Given the description of an element on the screen output the (x, y) to click on. 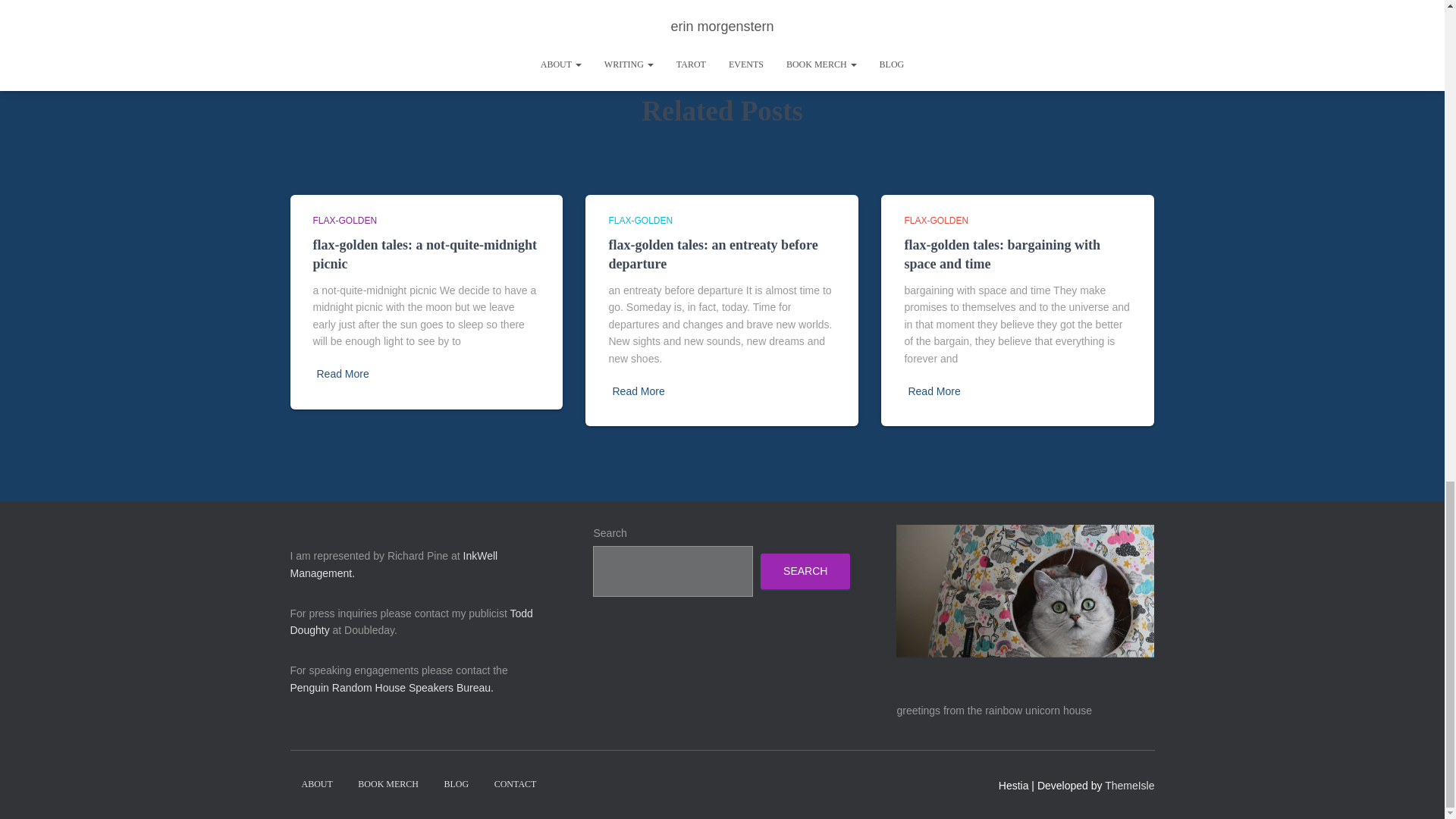
Read More (933, 391)
flax-golden tales: an entreaty before departure (712, 254)
flax-golden tales: a not-quite-midnight picnic (425, 254)
FLAX-GOLDEN (936, 220)
Todd Doughty (410, 622)
InkWell Management. (393, 564)
flax-golden tales: bargaining with space and time (1002, 254)
FLAX-GOLDEN (640, 220)
Read More (637, 391)
Read More (343, 374)
